Given the description of an element on the screen output the (x, y) to click on. 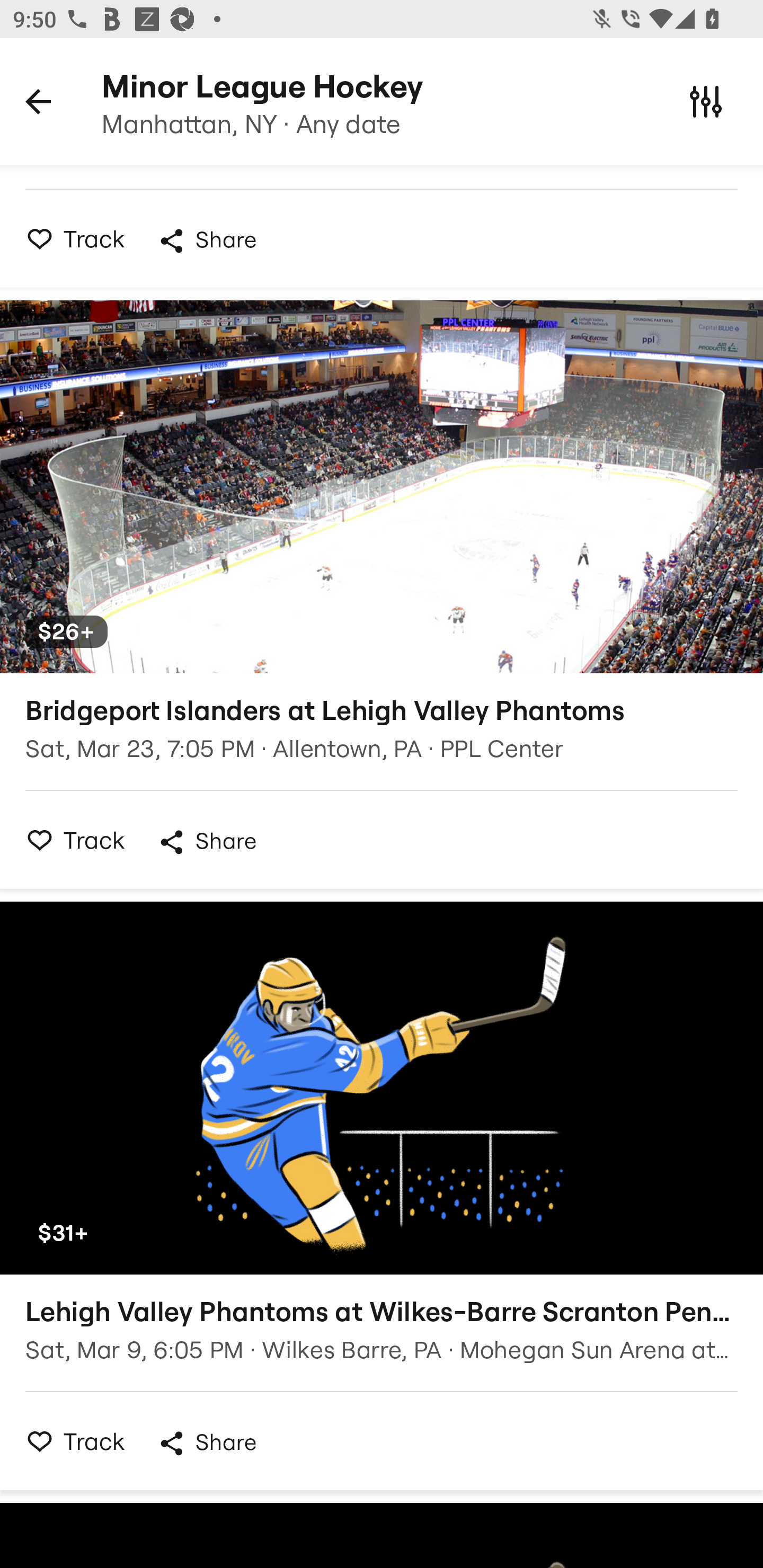
Back (38, 100)
Filters (705, 100)
Track (70, 237)
Share (207, 240)
Track (70, 839)
Share (207, 842)
Track (70, 1440)
Share (207, 1443)
